Given the description of an element on the screen output the (x, y) to click on. 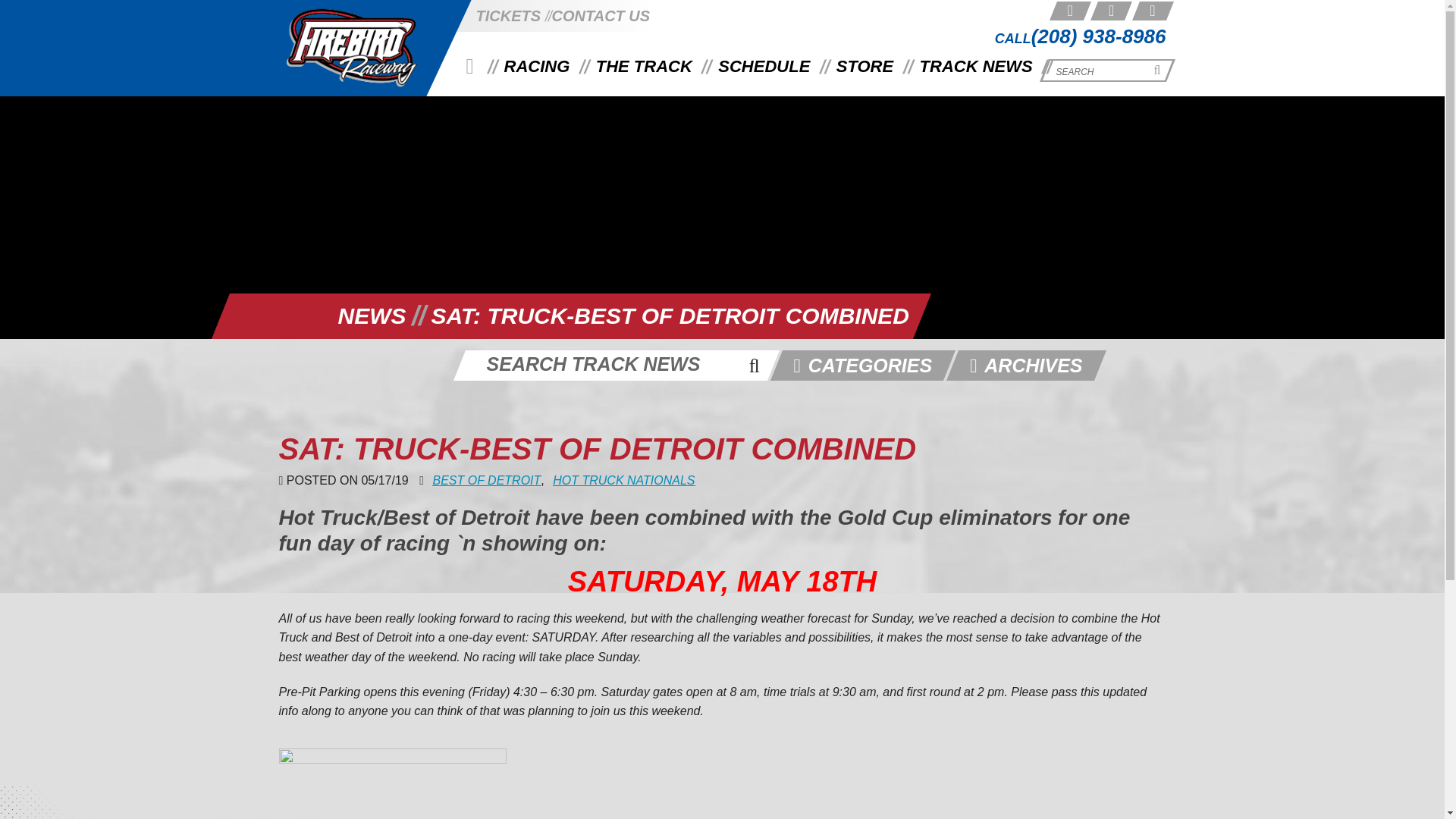
CONTACT US (600, 15)
THE TRACK (643, 66)
RACING (536, 66)
TICKETS (508, 15)
SCHEDULE (763, 66)
